Given the description of an element on the screen output the (x, y) to click on. 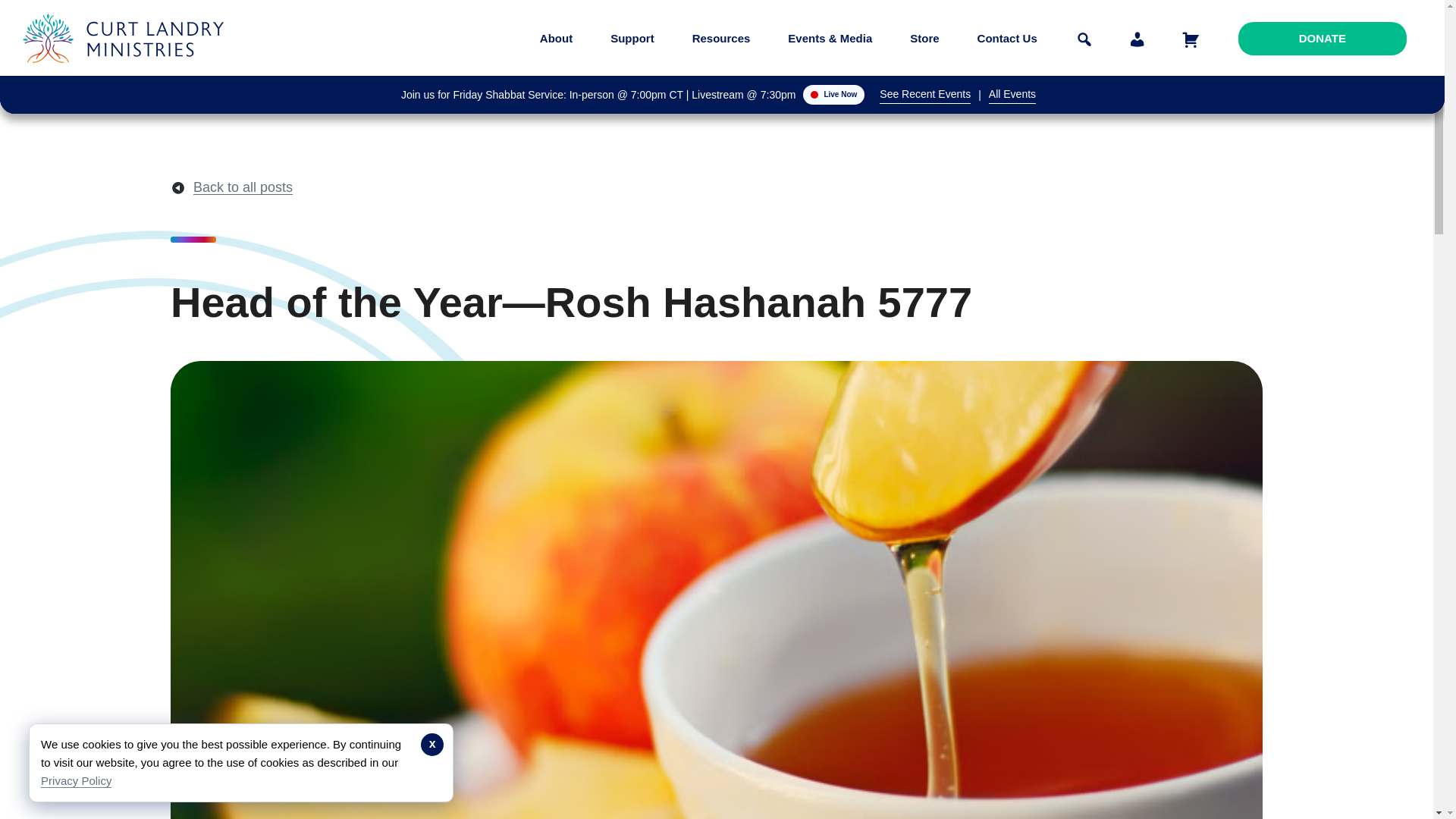
About (556, 38)
Store (924, 38)
Support (631, 38)
Resources (721, 38)
Curt Landry Ministries (127, 74)
